Given the description of an element on the screen output the (x, y) to click on. 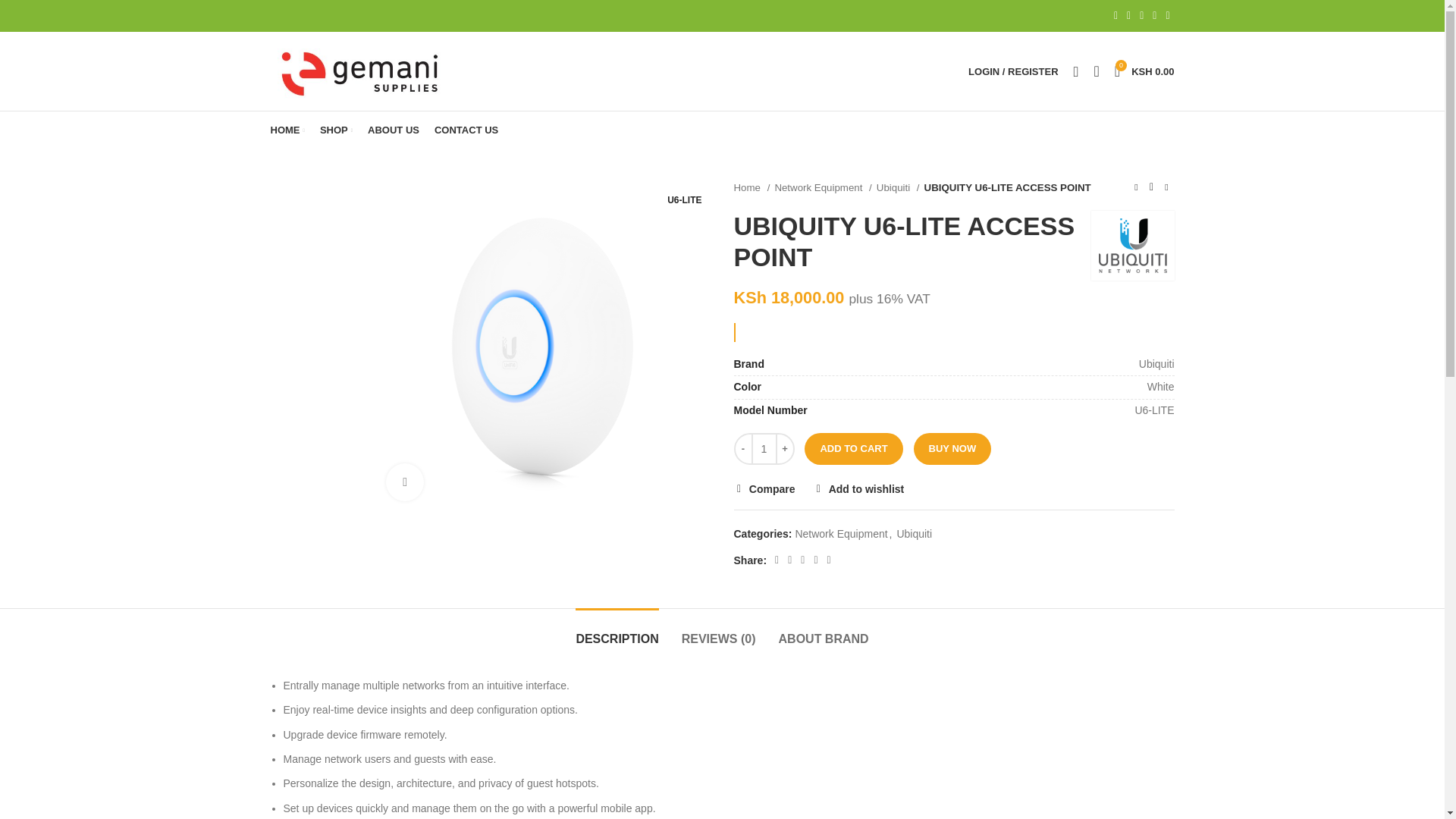
SHOP (336, 130)
Ubiquiti (1131, 244)
My account (1012, 71)
HOME (286, 130)
Log in (1144, 71)
Shopping cart (932, 309)
